Given the description of an element on the screen output the (x, y) to click on. 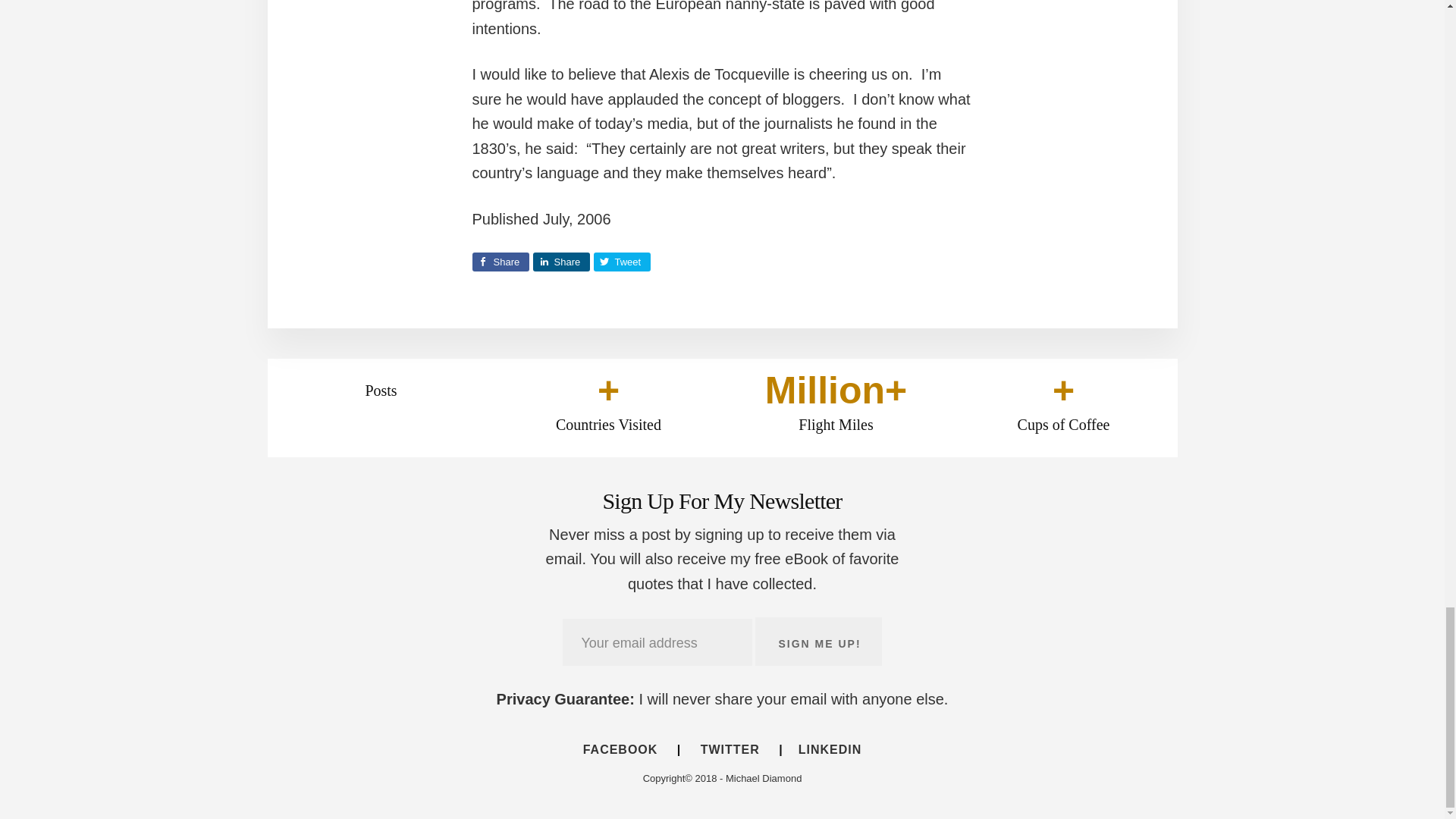
Sign me up! (817, 641)
TWITTER (729, 748)
LINKEDIN (822, 748)
Sign me up! (817, 641)
Tweet (620, 261)
Share (560, 261)
Share (499, 261)
FACEBOOK (627, 748)
